Given the description of an element on the screen output the (x, y) to click on. 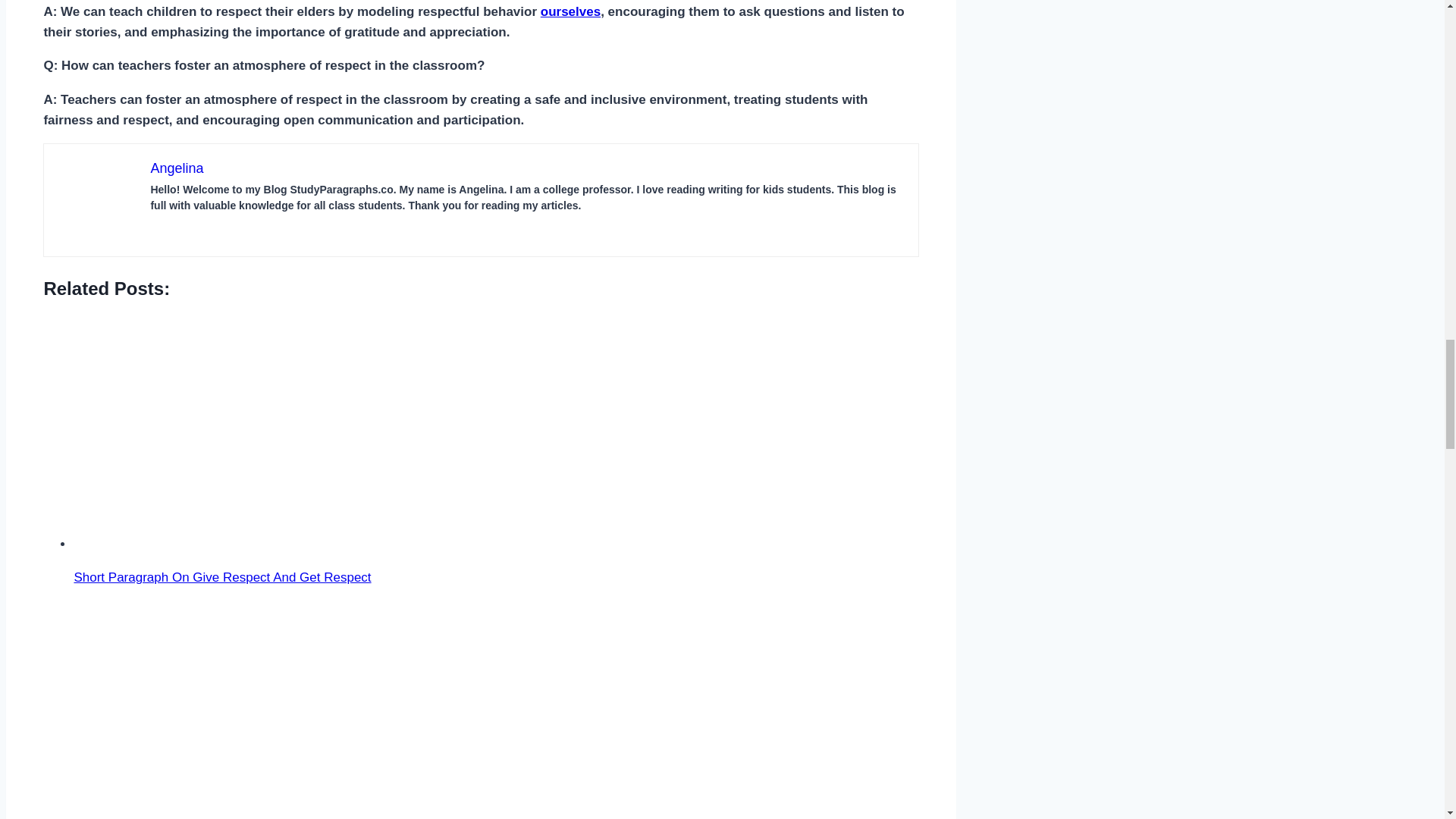
Angelina (176, 168)
Short Paragraph On Give Respect And Get Respect (217, 434)
ourselves (569, 11)
